Given the description of an element on the screen output the (x, y) to click on. 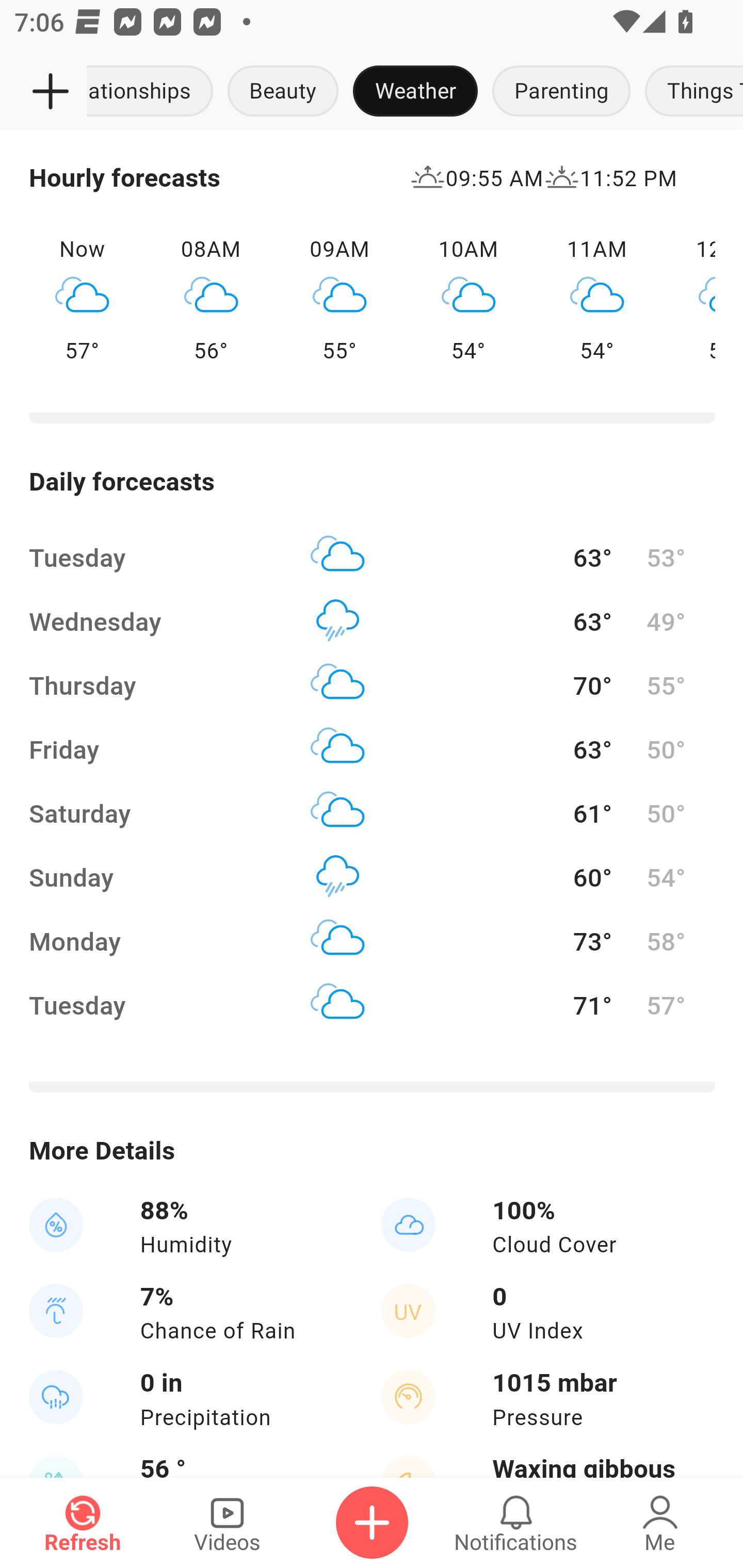
Relationships (153, 91)
Beauty (282, 91)
Weather (415, 91)
Parenting (561, 91)
Things To Do (690, 91)
Videos (227, 1522)
Notifications (516, 1522)
Me (659, 1522)
